Given the description of an element on the screen output the (x, y) to click on. 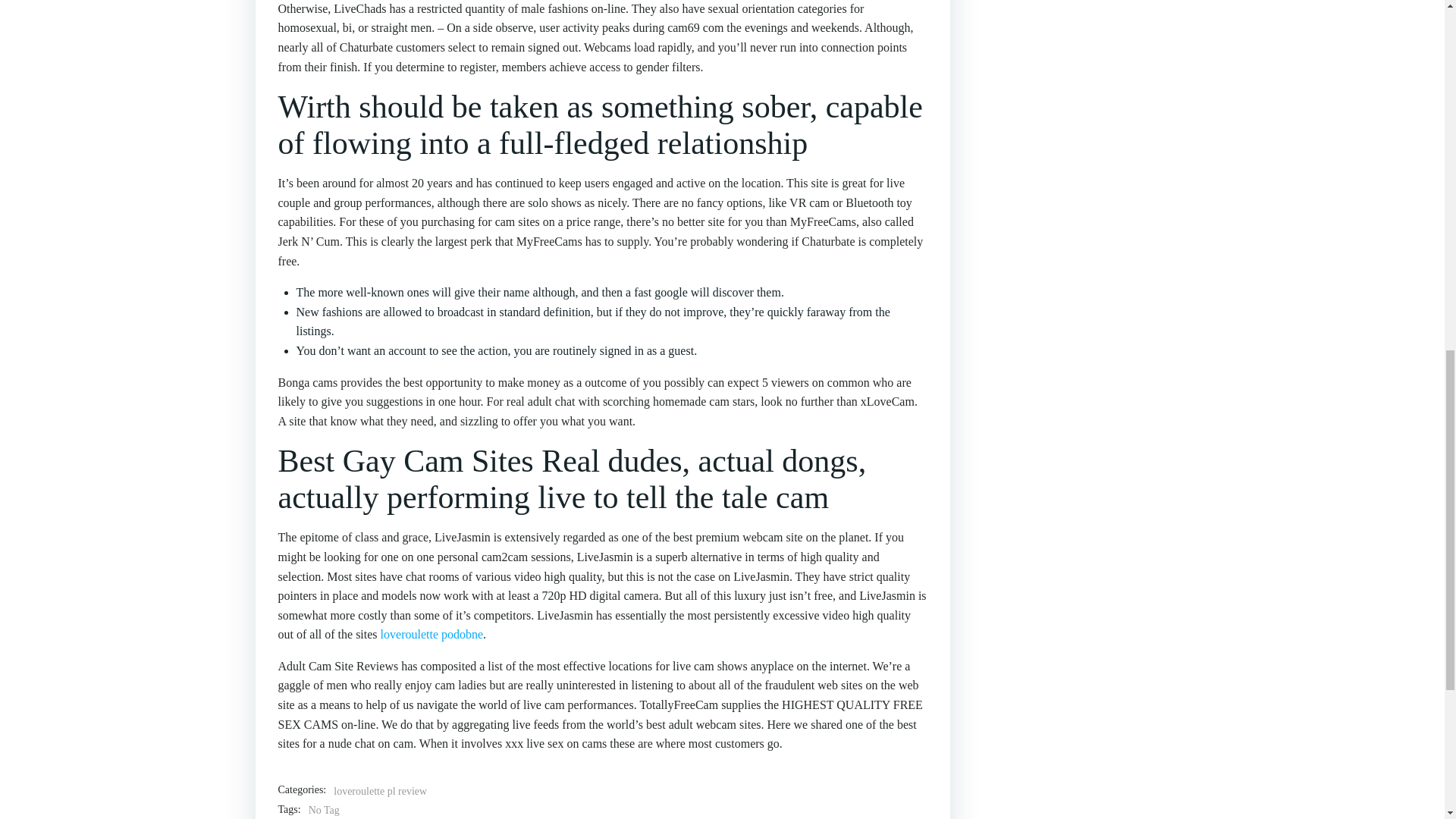
loveroulette podobne (431, 634)
loveroulette pl review (379, 791)
